Given the description of an element on the screen output the (x, y) to click on. 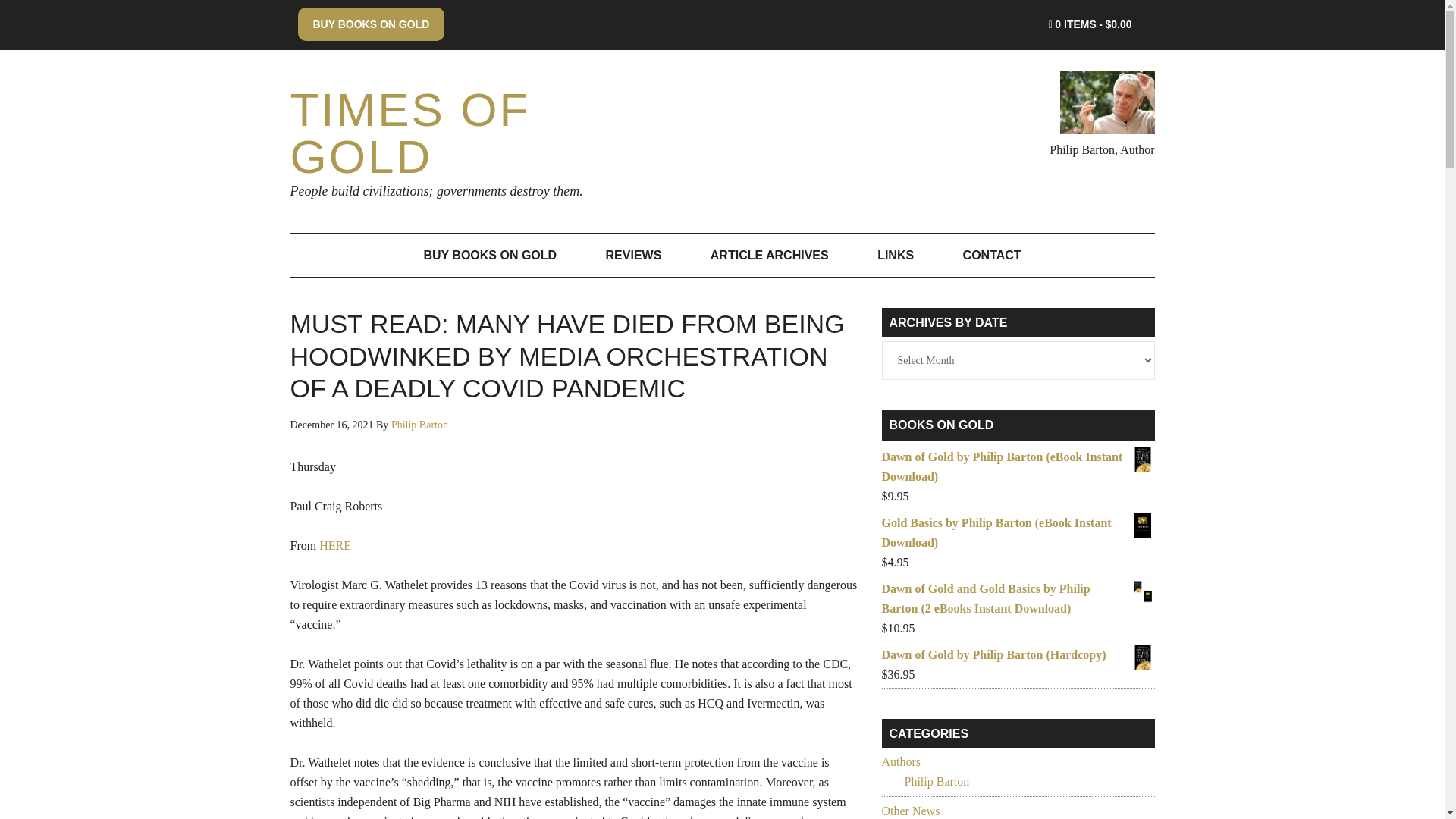
LINKS (895, 255)
ARTICLE ARCHIVES (769, 255)
BUY BOOKS ON GOLD (489, 255)
HERE (334, 544)
Start shopping (1090, 24)
Philip Barton (936, 780)
CONTACT (991, 255)
Philip Barton (419, 424)
Authors (900, 761)
BUY BOOKS ON GOLD (370, 24)
Other News (909, 810)
REVIEWS (633, 255)
TIMES OF GOLD (409, 132)
